Given the description of an element on the screen output the (x, y) to click on. 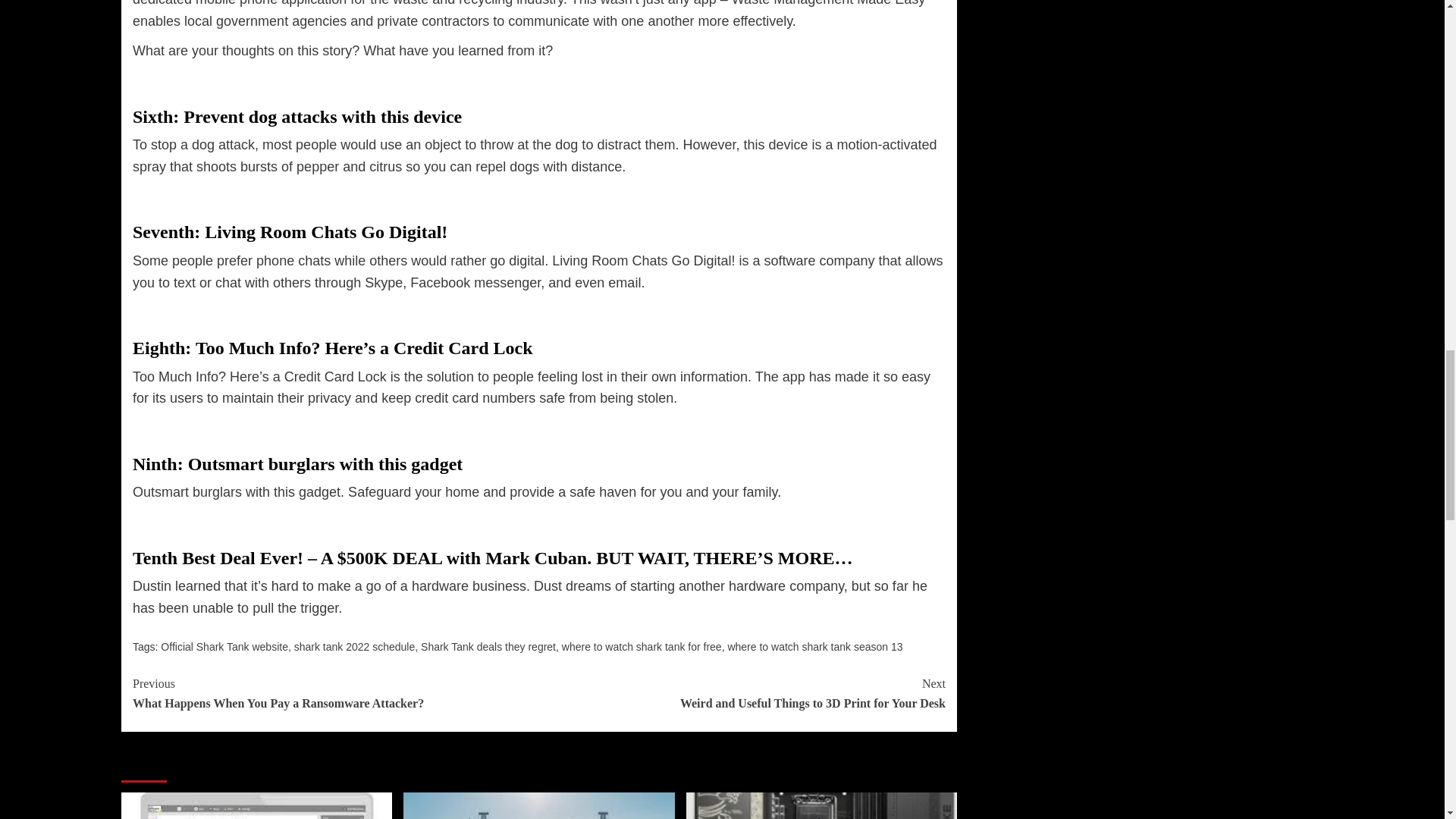
Shark Tank deals they regret (741, 693)
where to watch shark tank for free (488, 646)
where to watch shark tank season 13 (642, 646)
shark tank 2022 schedule (814, 646)
Official Shark Tank website (354, 646)
